Given the description of an element on the screen output the (x, y) to click on. 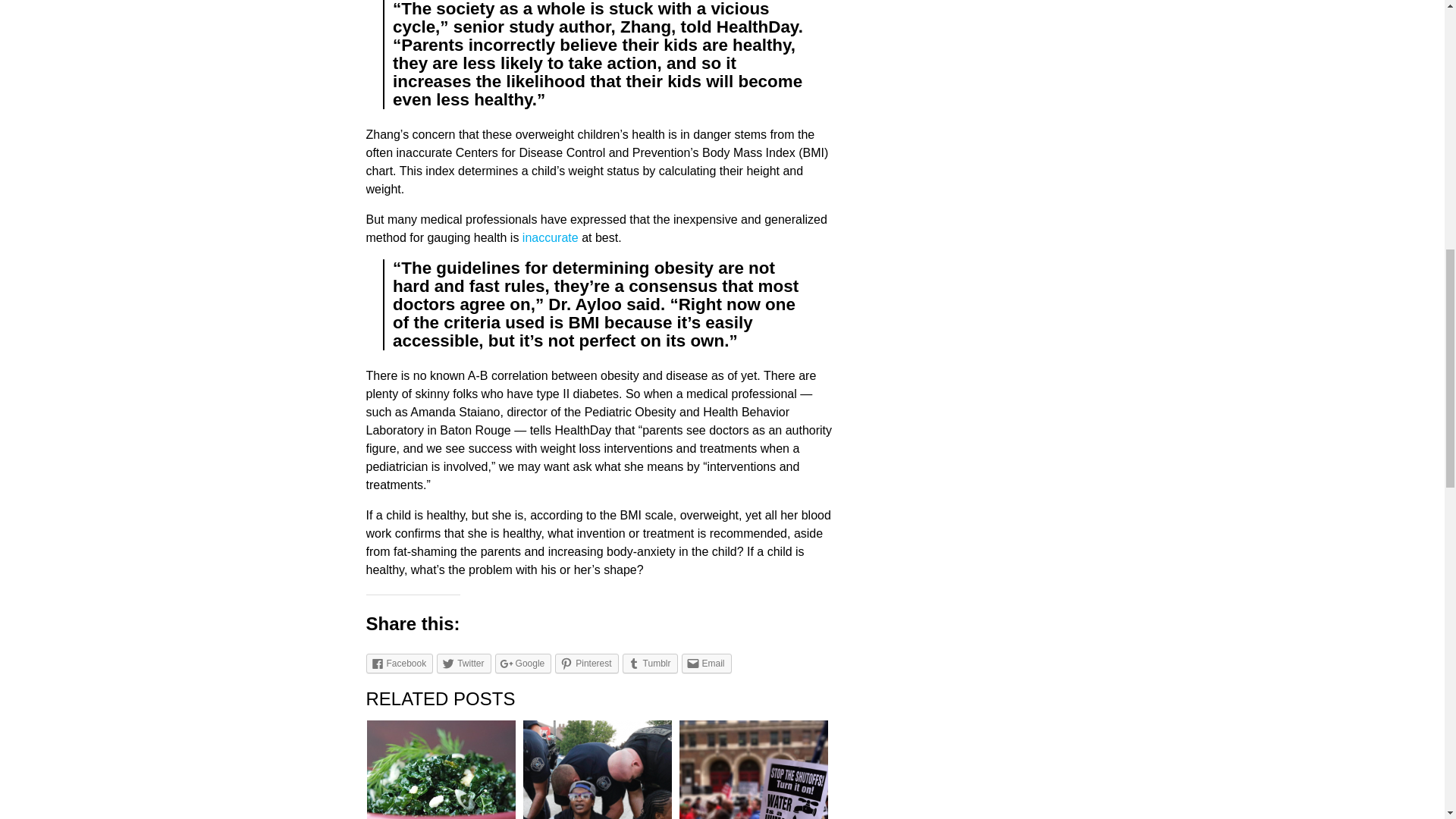
Click to share on Tumblr (650, 663)
Click to share on Facebook (398, 663)
Tumblr (650, 663)
Facebook (398, 663)
Click to share on Pinterest (585, 663)
Twitter (463, 663)
Email (705, 663)
Pinterest (585, 663)
Click to share on Twitter (463, 663)
Google (523, 663)
inaccurate (550, 237)
